Given the description of an element on the screen output the (x, y) to click on. 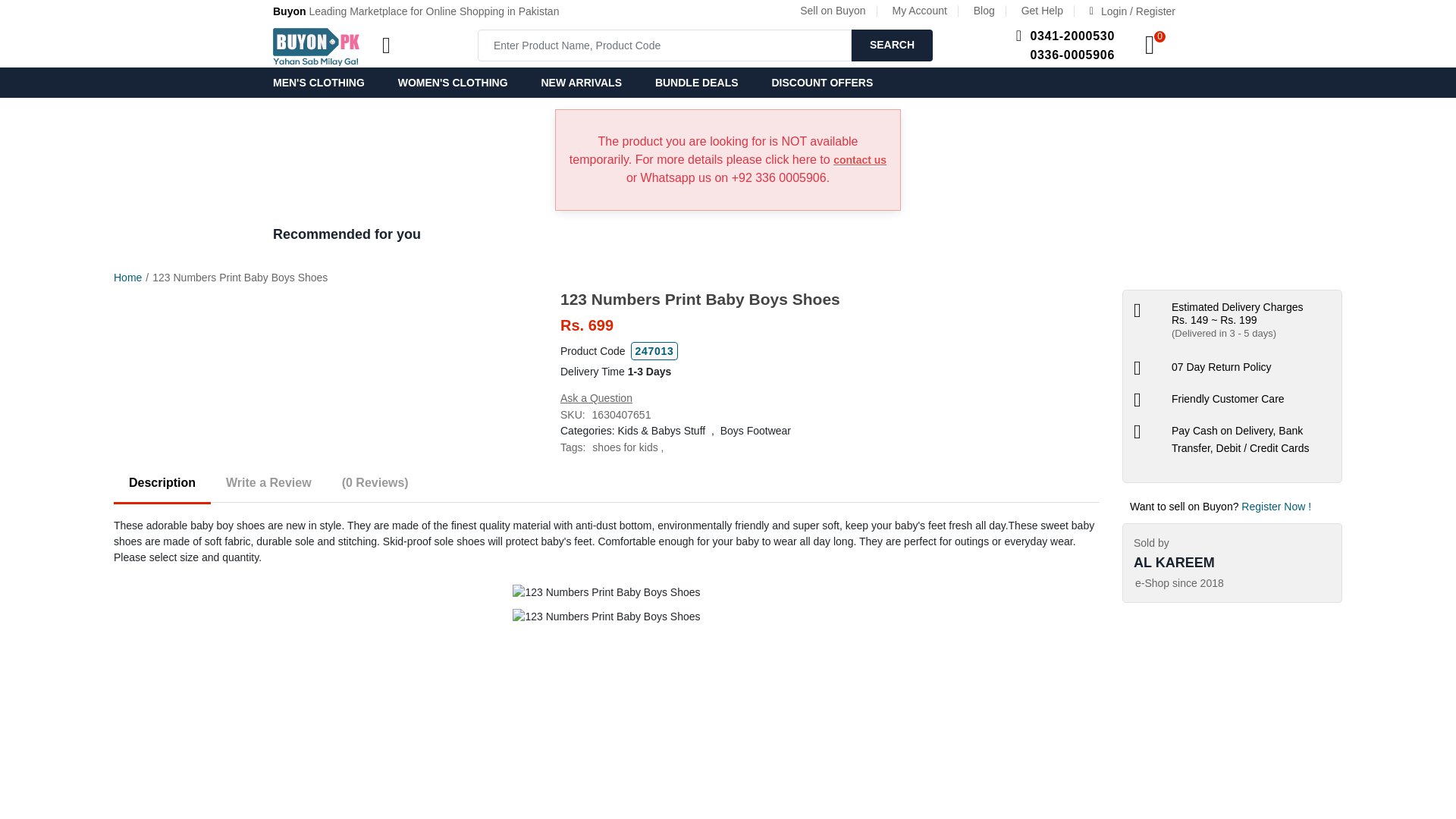
0341-2000530 (1072, 36)
WOMEN'S CLOTHING (452, 82)
AL KAREEM (1232, 552)
NEW ARRIVALS (581, 82)
contact us (859, 159)
SEARCH (892, 44)
Sell on Buyon (831, 10)
MEN'S CLOTHING (326, 82)
Copy to clipboard (654, 351)
DISCOUNT OFFERS (821, 82)
123 Numbers Print Baby Boys Shoes (606, 592)
Get Help (1042, 10)
Buyon.pk on mobile (316, 45)
Home (127, 277)
BUNDLE DEALS (697, 82)
